Given the description of an element on the screen output the (x, y) to click on. 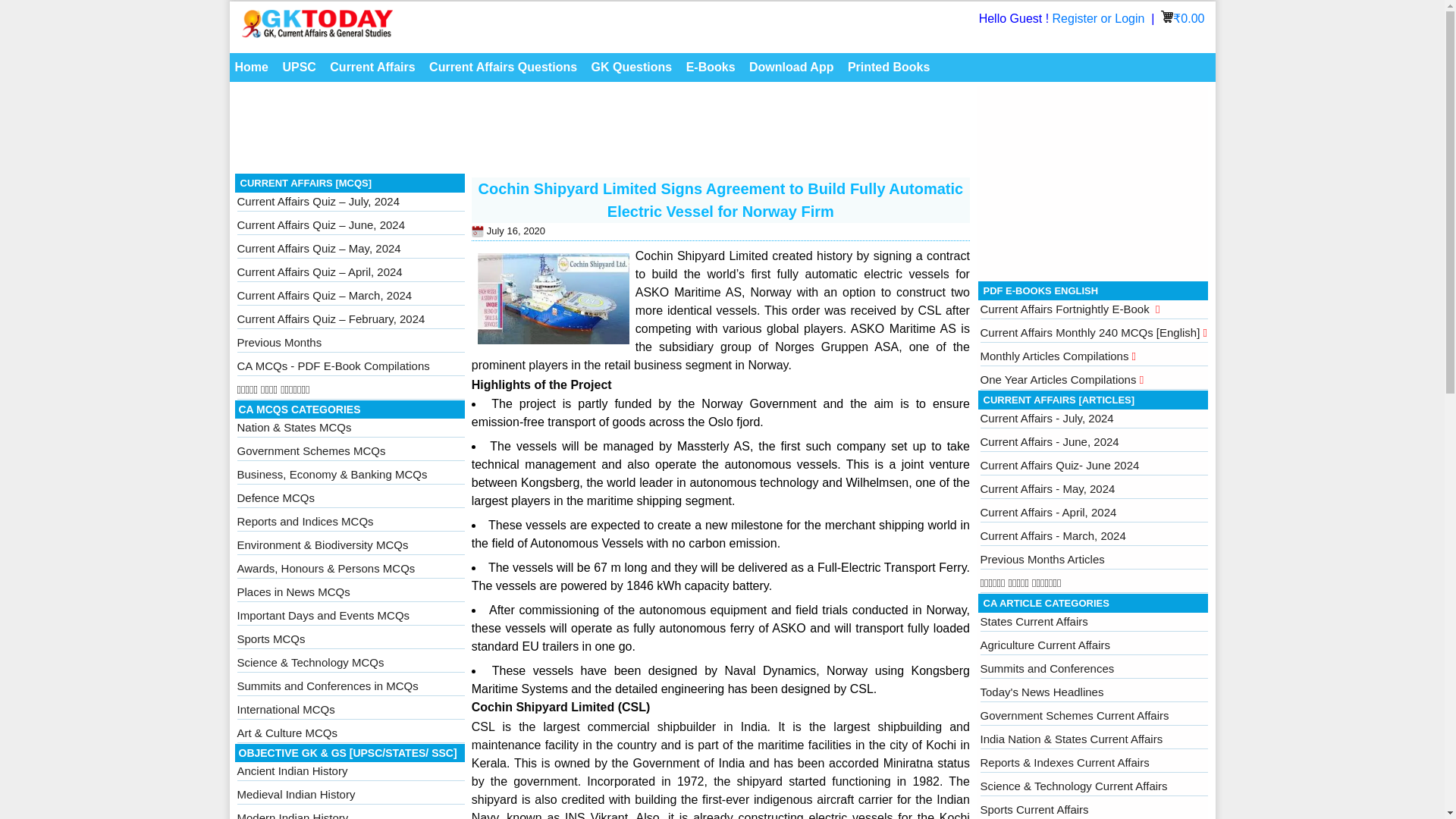
UPSC (298, 67)
CA MCQs - PDF E-Book Compilations (332, 365)
Home (250, 67)
Current Affairs (372, 67)
Advertisement (602, 131)
GK Questions (632, 67)
E-Books (711, 67)
Register or Login (1100, 18)
Reports and Indices MCQs (303, 521)
Download App (791, 67)
Government Schemes MCQs (310, 450)
Printed Books (888, 67)
Current Affairs Questions (502, 67)
Defence MCQs (274, 497)
